Given the description of an element on the screen output the (x, y) to click on. 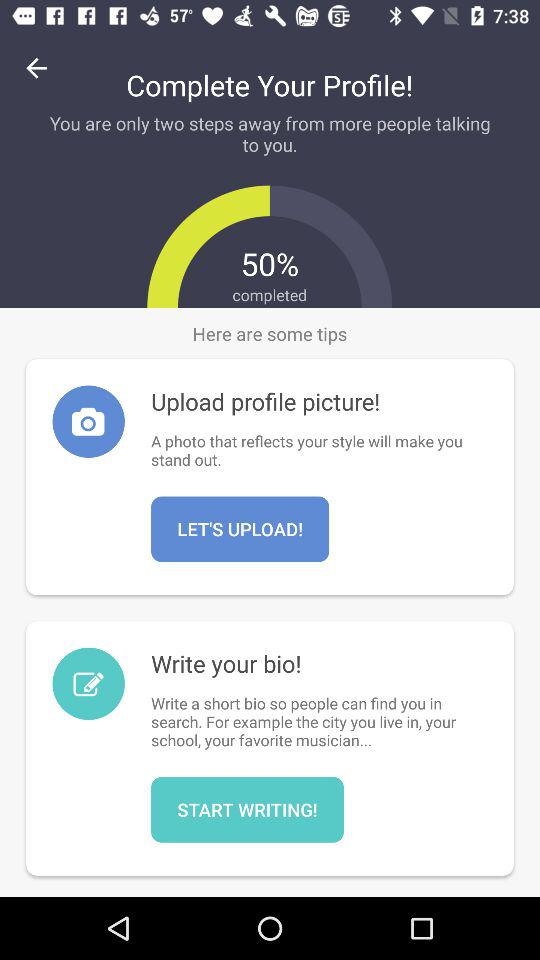
choose icon to the left of complete your profile! (36, 68)
